Given the description of an element on the screen output the (x, y) to click on. 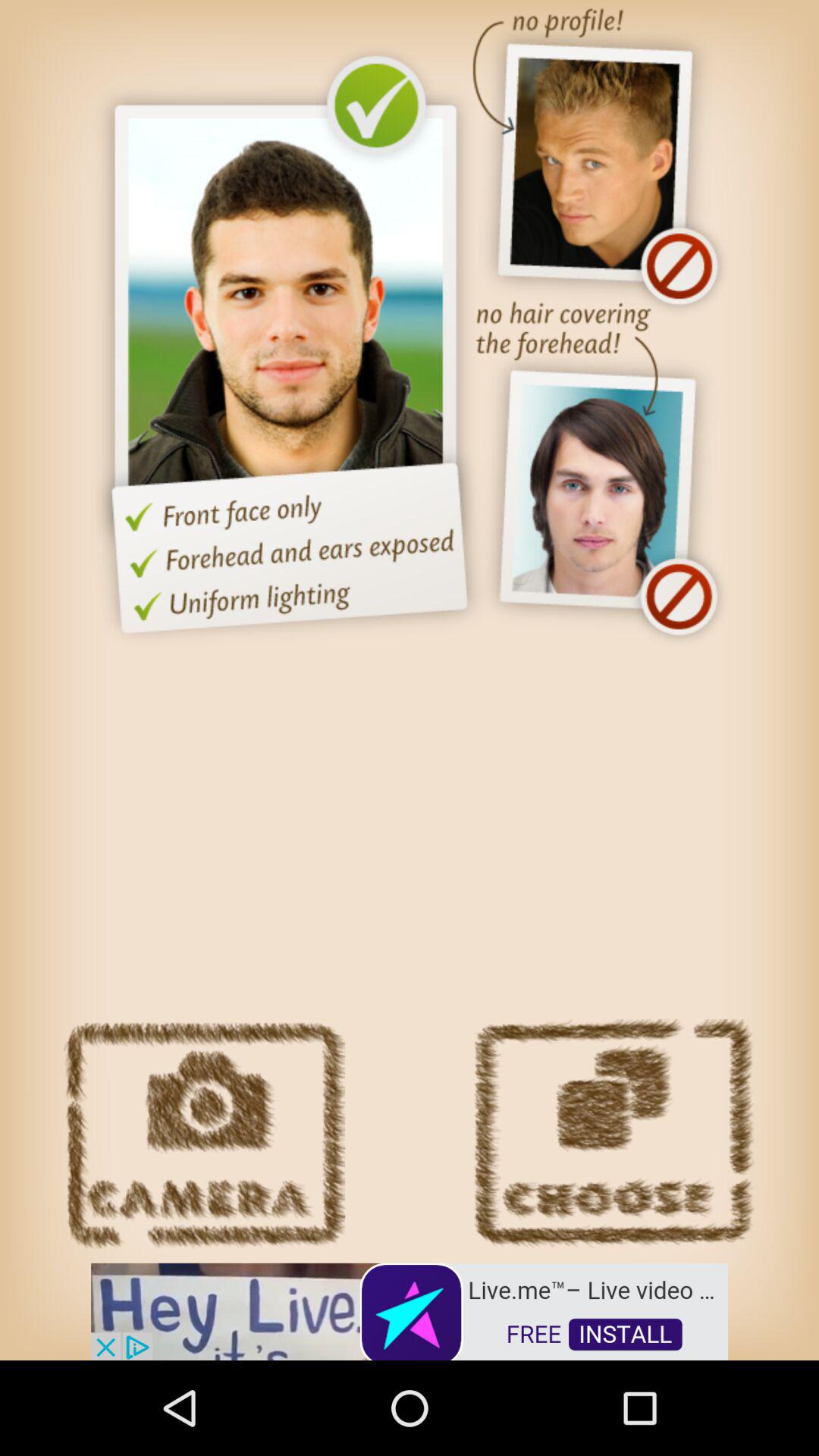
choose this person (613, 1133)
